Given the description of an element on the screen output the (x, y) to click on. 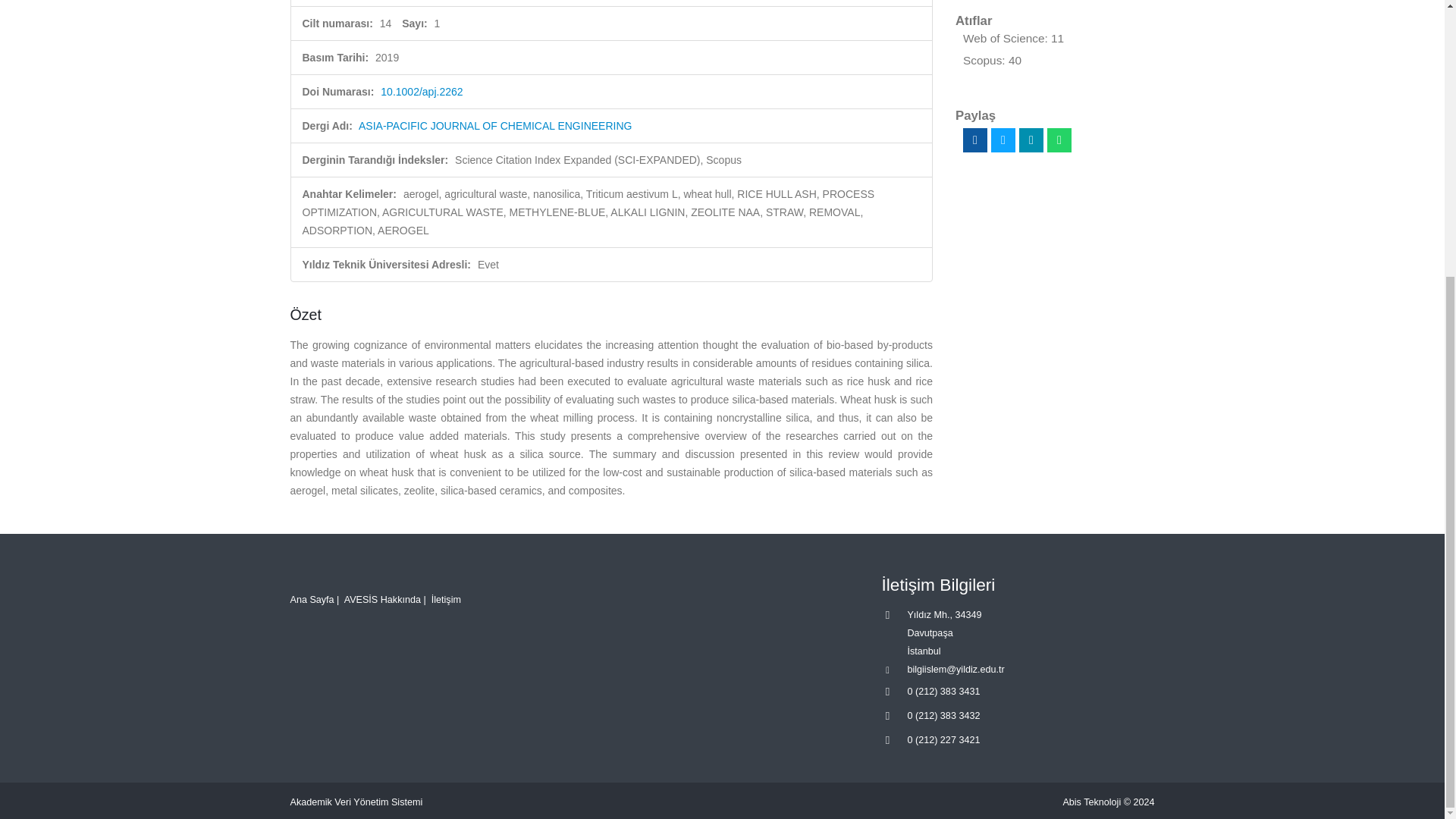
ASIA-PACIFIC JOURNAL OF CHEMICAL ENGINEERING (494, 125)
Abis Teknoloji (1091, 801)
Ana Sayfa (311, 599)
